Given the description of an element on the screen output the (x, y) to click on. 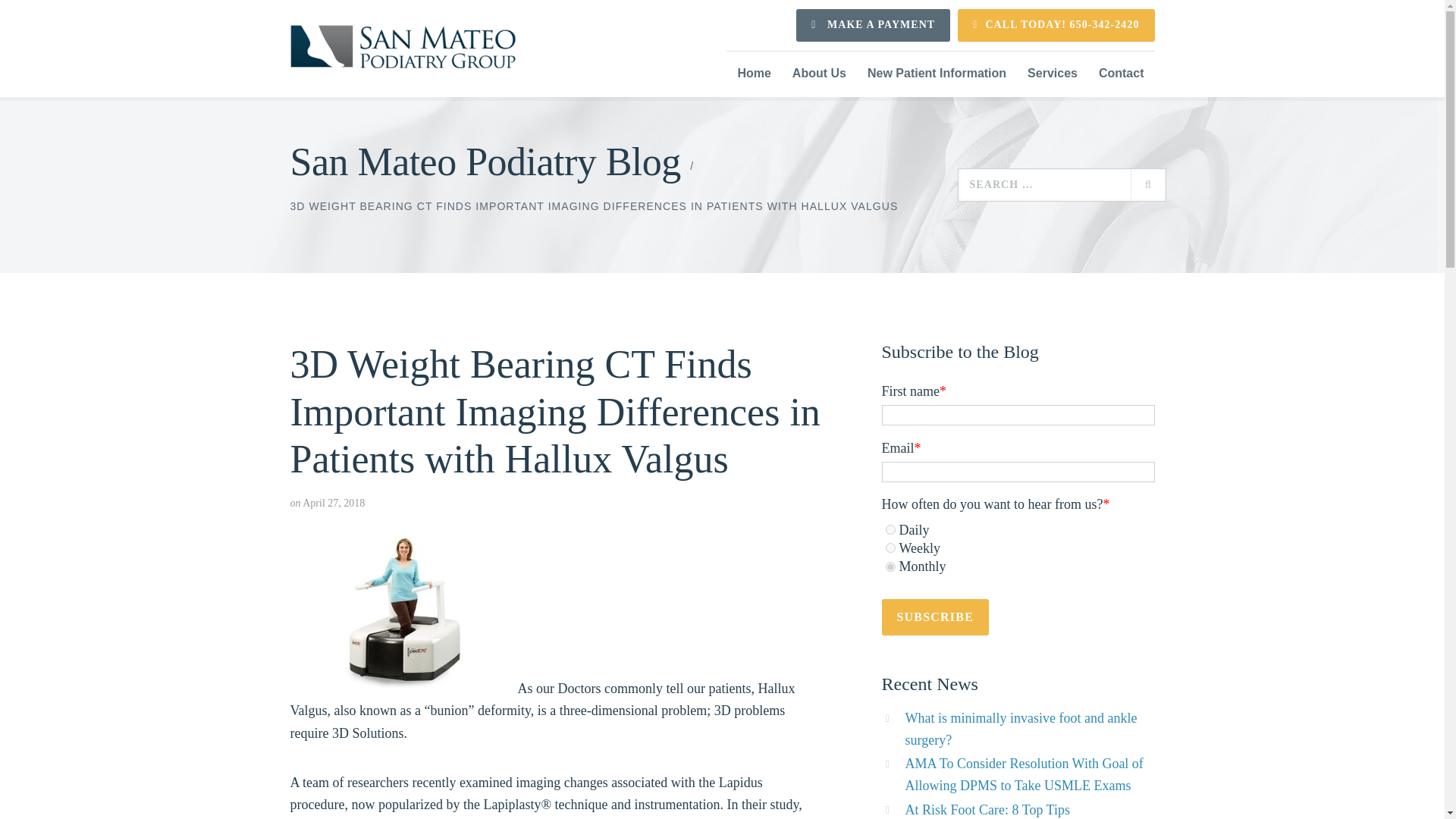
Sanmateo Podiatry Group (402, 47)
San Mateo Podiatry Blog (484, 161)
weekly (890, 547)
At Risk Foot Care: 8 Top Tips (987, 809)
Search (1146, 184)
CALL TODAY! 650-342-2420 (1056, 25)
Home (753, 74)
monthly (890, 566)
daily (890, 529)
Subscribe (936, 616)
Services (1051, 74)
Subscribe (936, 616)
New Patient Information (936, 74)
Contact (1120, 74)
